Given the description of an element on the screen output the (x, y) to click on. 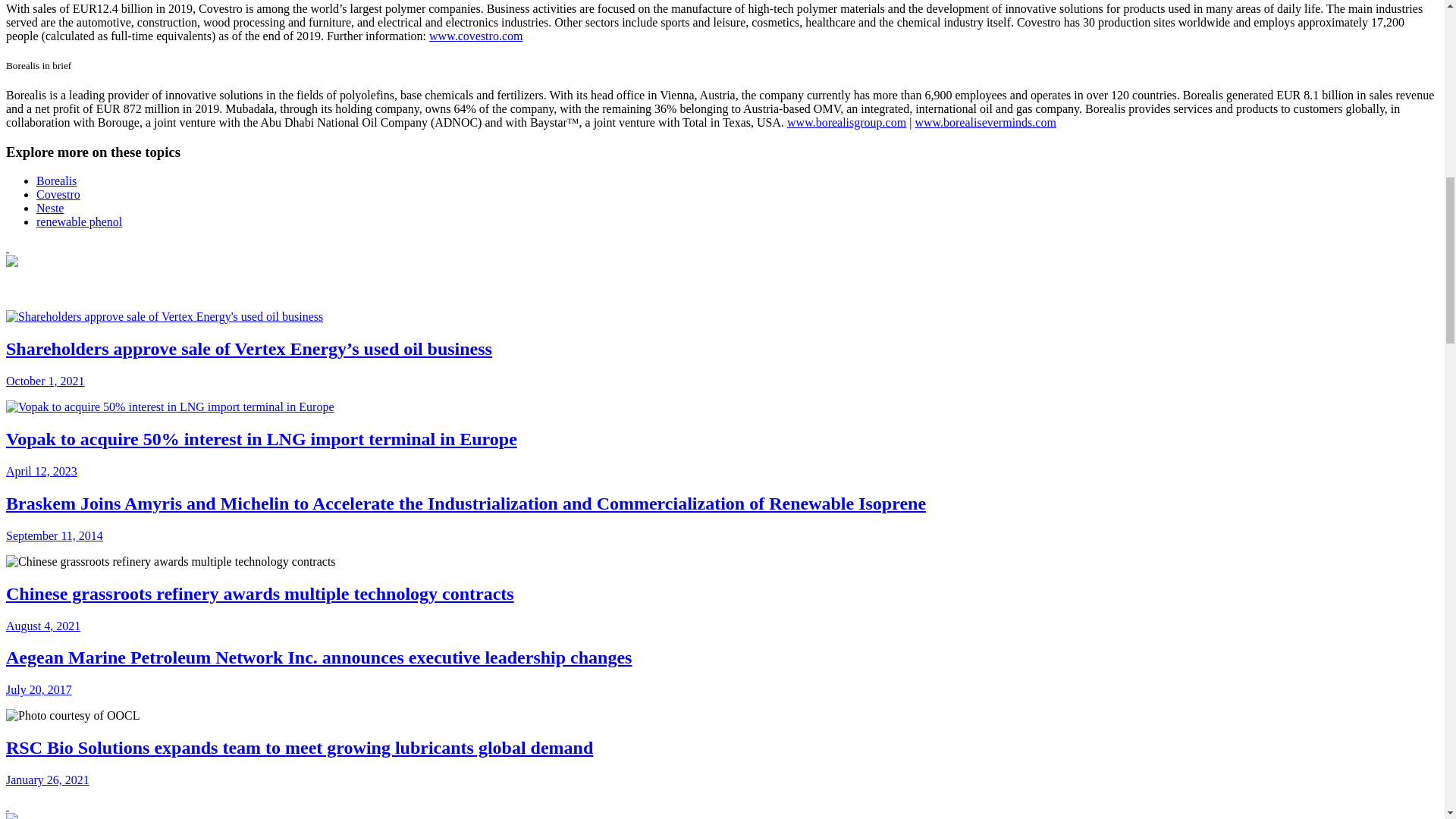
Covestro (58, 194)
renewable phenol (79, 221)
www.borealiseverminds.com (984, 122)
www.covestro.com (475, 34)
September 11, 2014 (54, 535)
Borealis (56, 180)
www.borealisgroup.com (846, 122)
August 4, 2021 (42, 625)
Neste (50, 207)
April 12, 2023 (41, 471)
October 1, 2021 (44, 380)
